Given the description of an element on the screen output the (x, y) to click on. 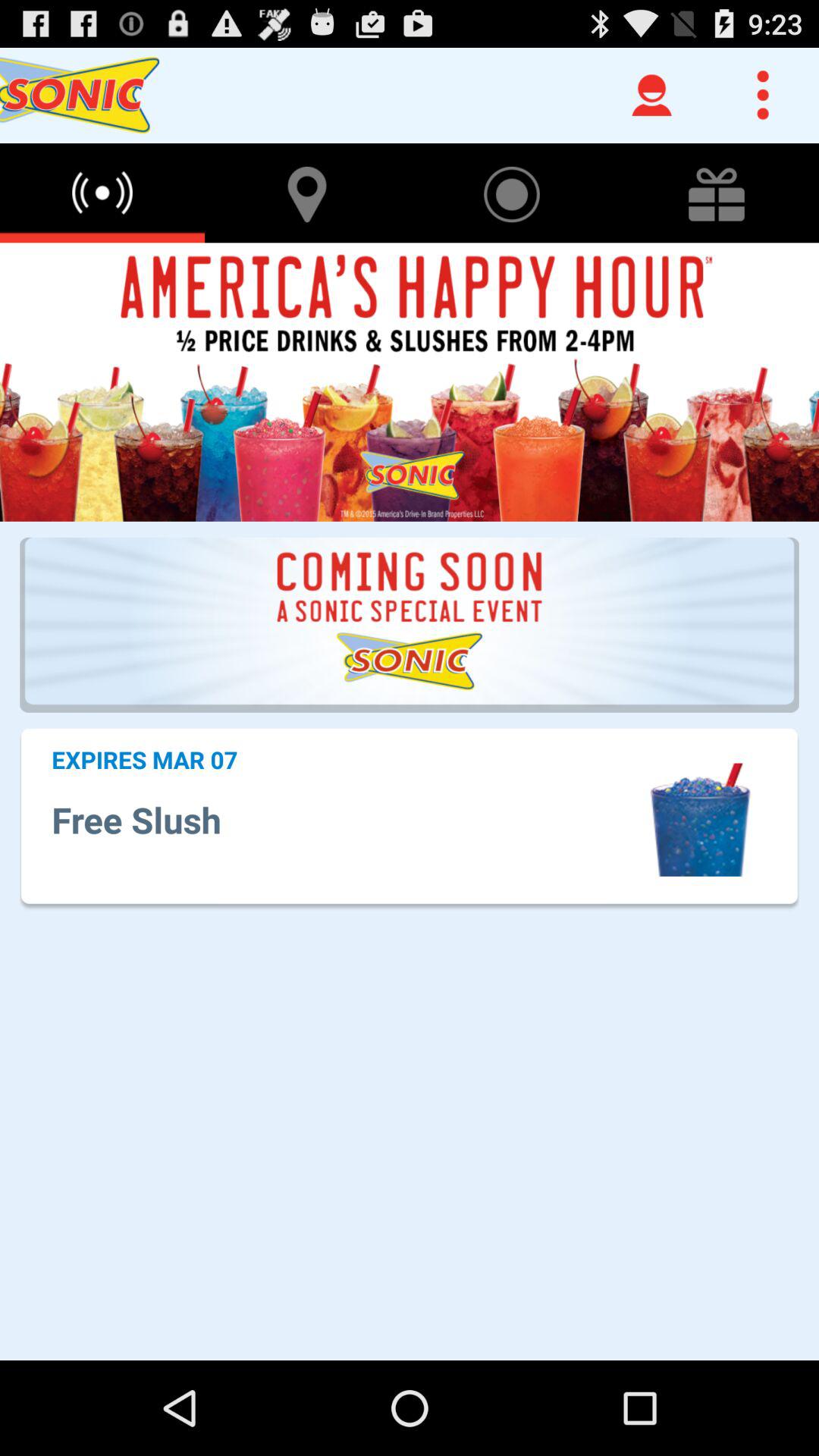
select the item above free slush icon (144, 759)
